Given the description of an element on the screen output the (x, y) to click on. 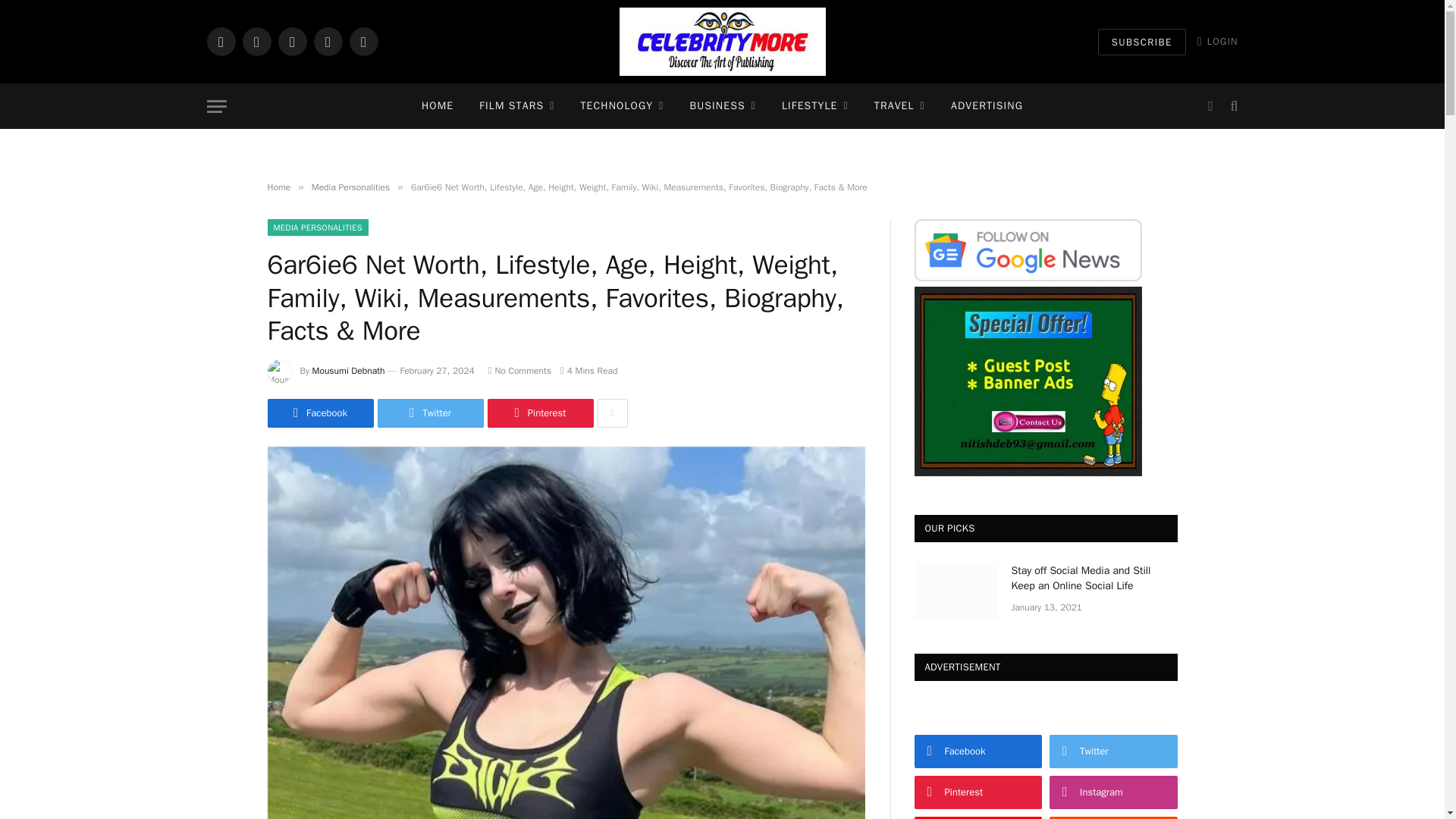
SUBSCRIBE (1141, 41)
YouTube (363, 41)
BUSINESS (722, 105)
TECHNOLOGY (622, 105)
FILM STARS (516, 105)
Facebook (220, 41)
LOGIN (1217, 41)
HOME (437, 105)
Pinterest (328, 41)
Instagram (291, 41)
